Given the description of an element on the screen output the (x, y) to click on. 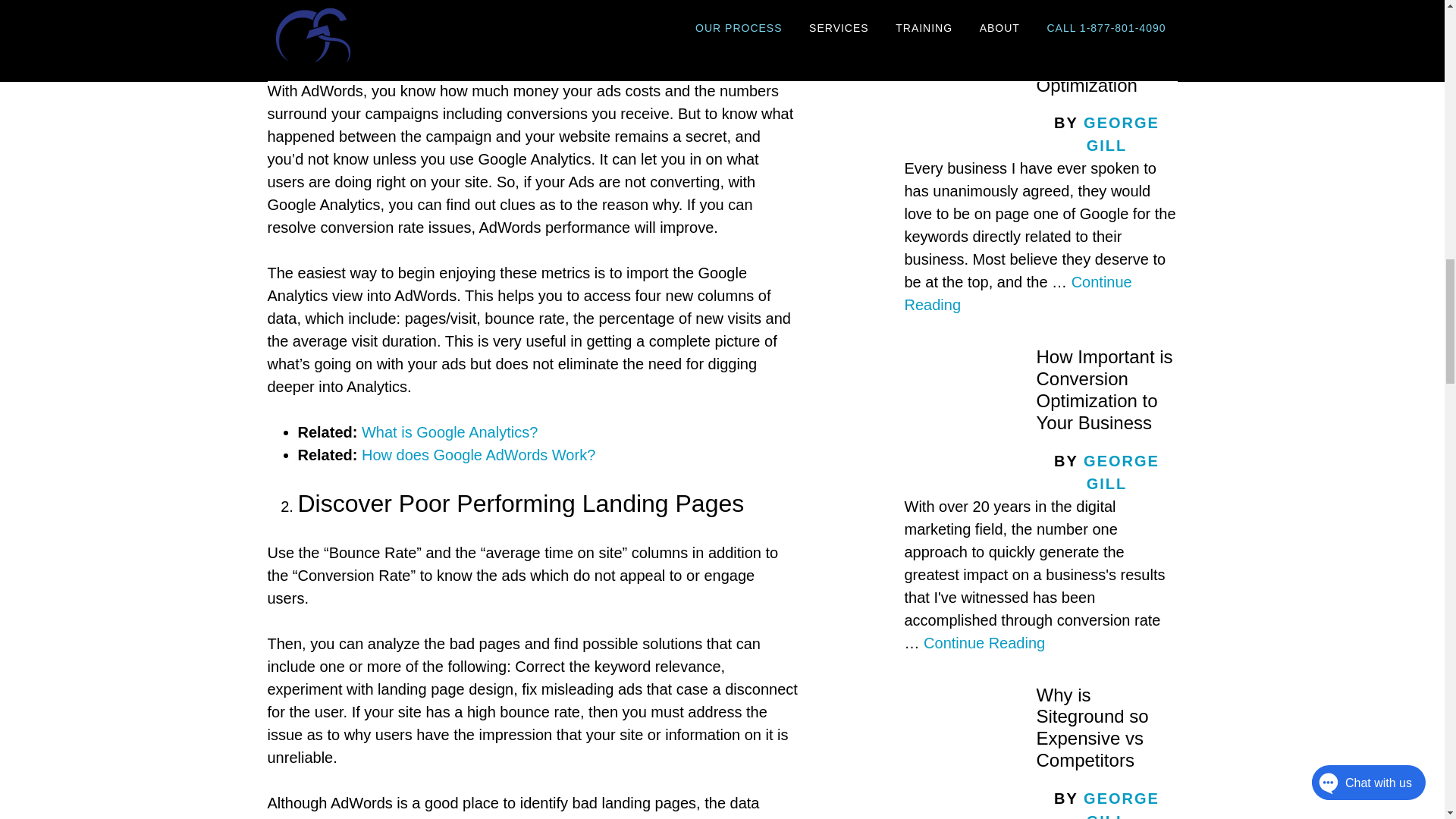
What is Google Analytics? (449, 432)
How does Google AdWords Work? (478, 454)
